Given the description of an element on the screen output the (x, y) to click on. 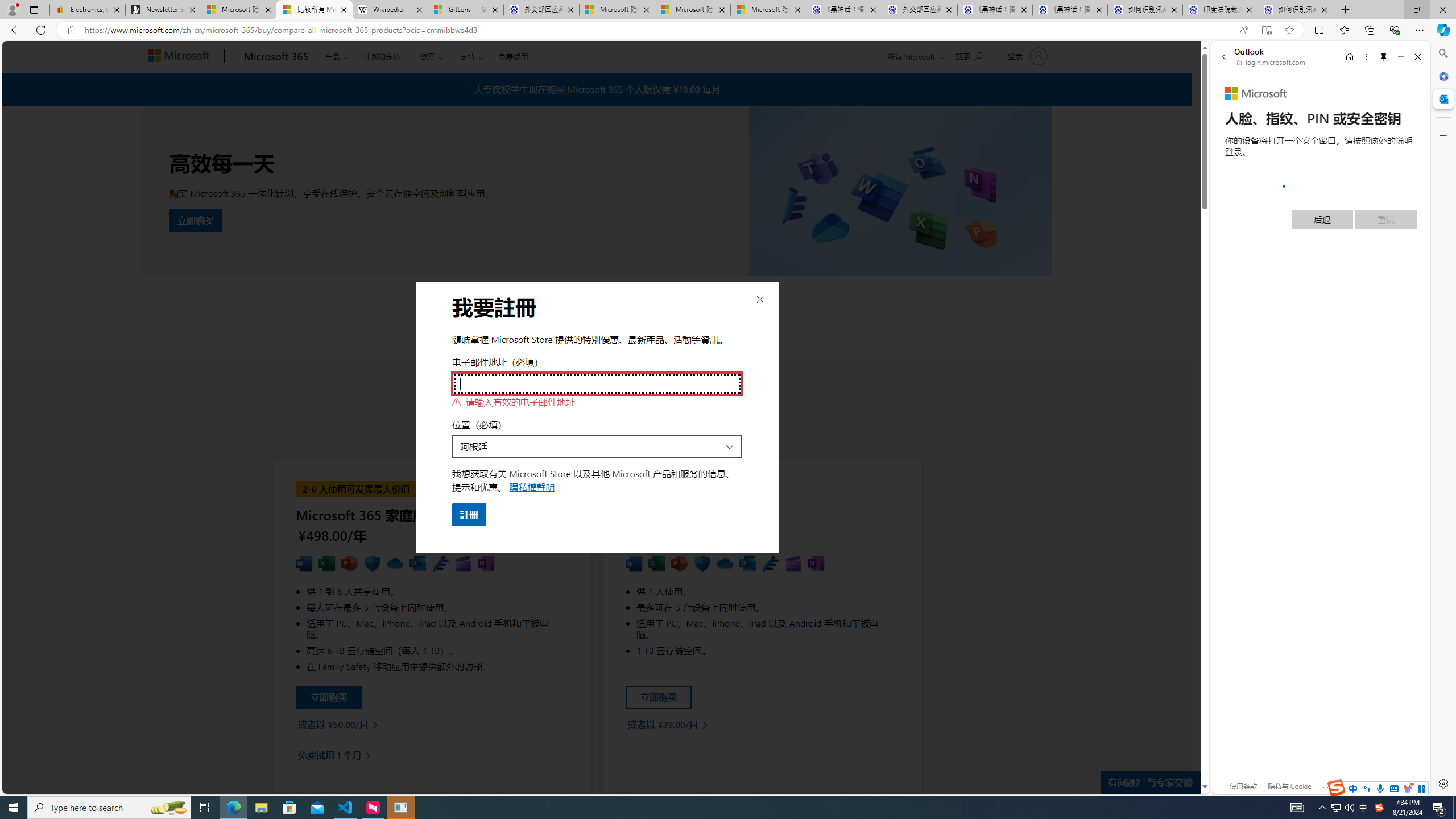
login.microsoft.com (1271, 61)
